Given the description of an element on the screen output the (x, y) to click on. 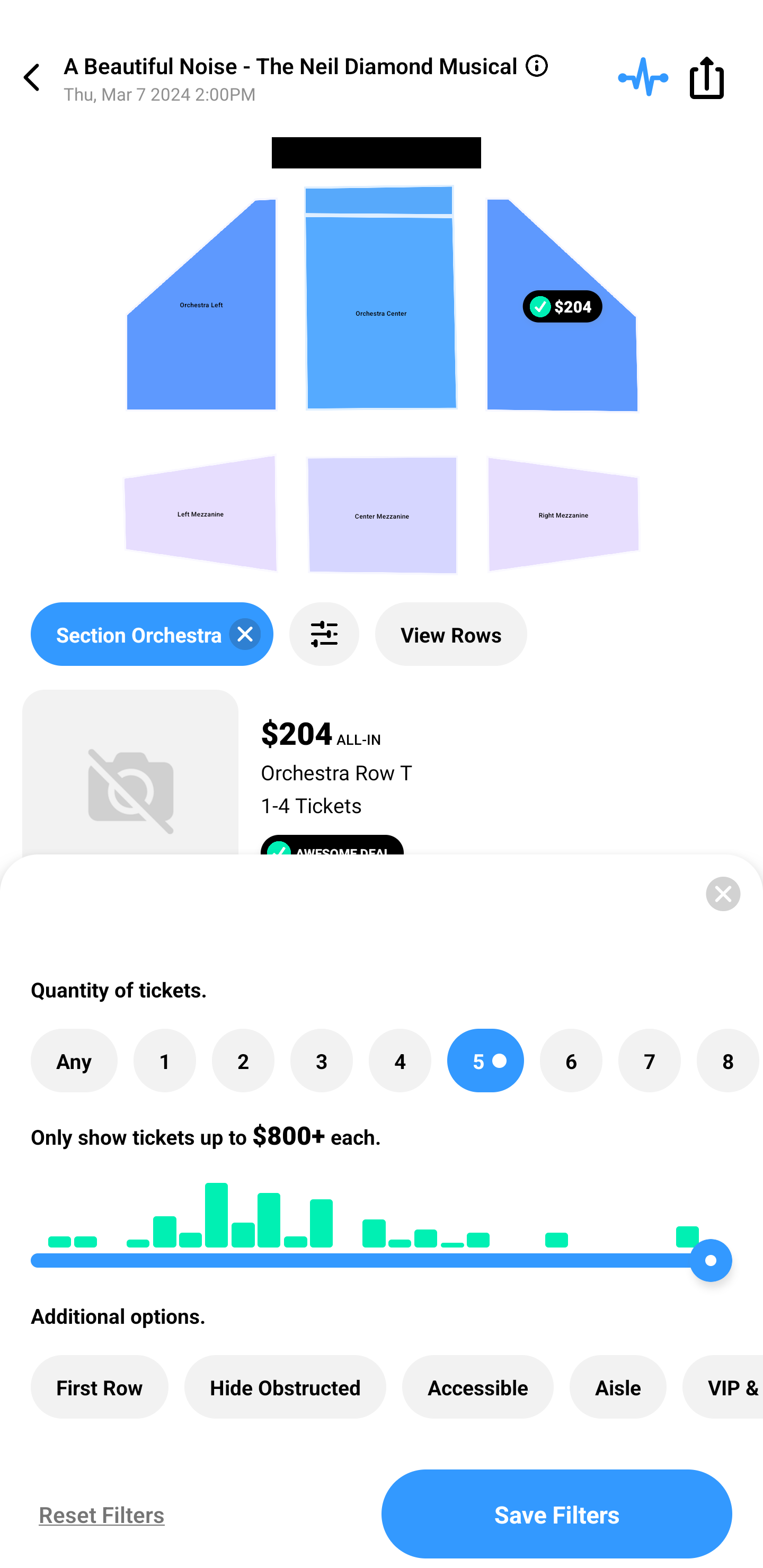
Any (73, 1060)
1 (164, 1060)
2 (243, 1060)
3 (321, 1060)
4 (399, 1060)
5 (485, 1060)
6 (571, 1060)
7 (649, 1060)
8 (727, 1060)
First Row (99, 1386)
Hide Obstructed (285, 1386)
Accessible (477, 1386)
Aisle (617, 1386)
Save Filters (556, 1513)
Reset Filters (97, 1513)
